Given the description of an element on the screen output the (x, y) to click on. 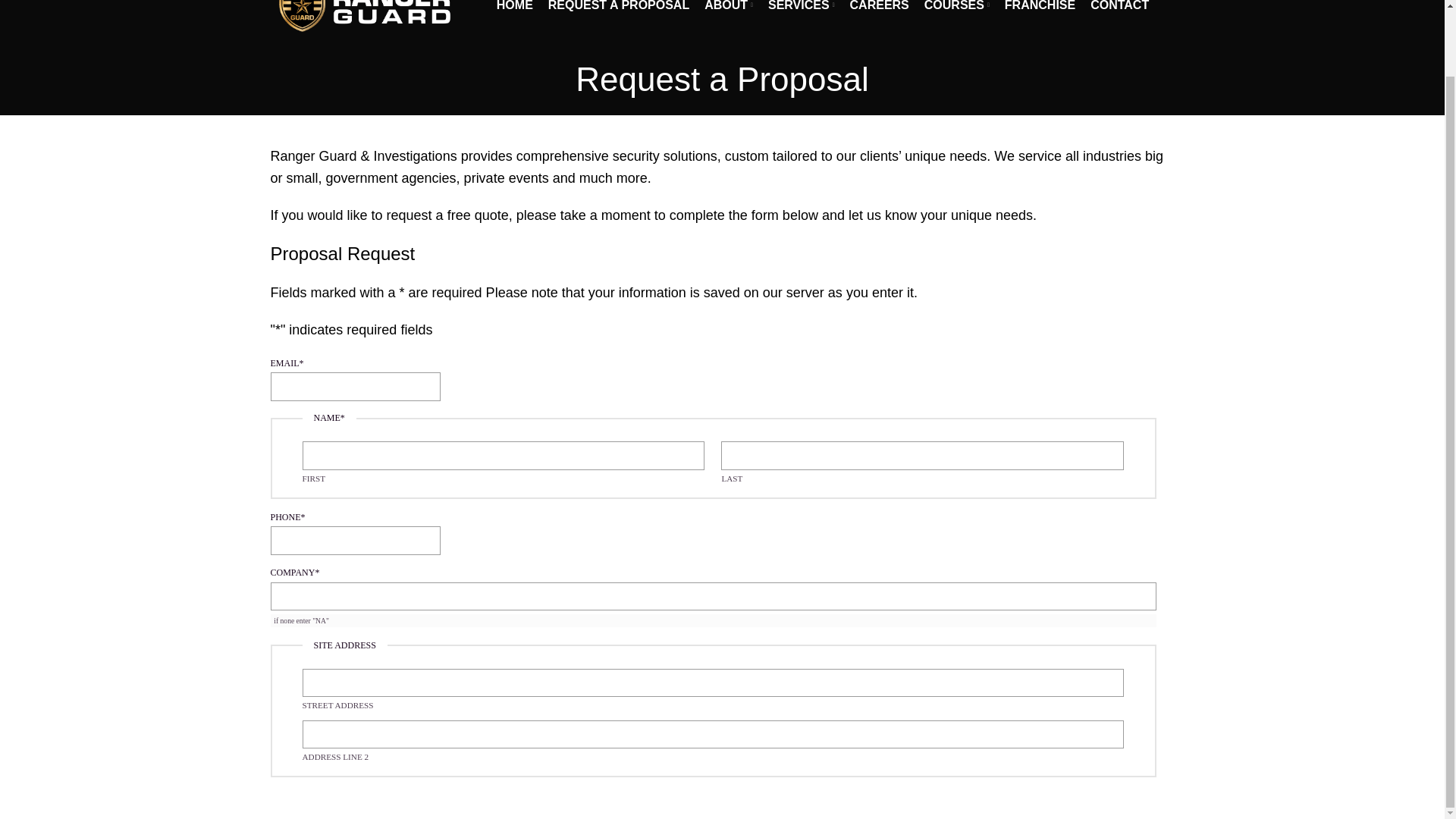
ABOUT (728, 9)
REQUEST A PROPOSAL (618, 9)
HOME (514, 9)
CAREERS (879, 9)
CONTACT (1119, 9)
FRANCHISE (1039, 9)
COURSES (957, 9)
SERVICES (801, 9)
